Given the description of an element on the screen output the (x, y) to click on. 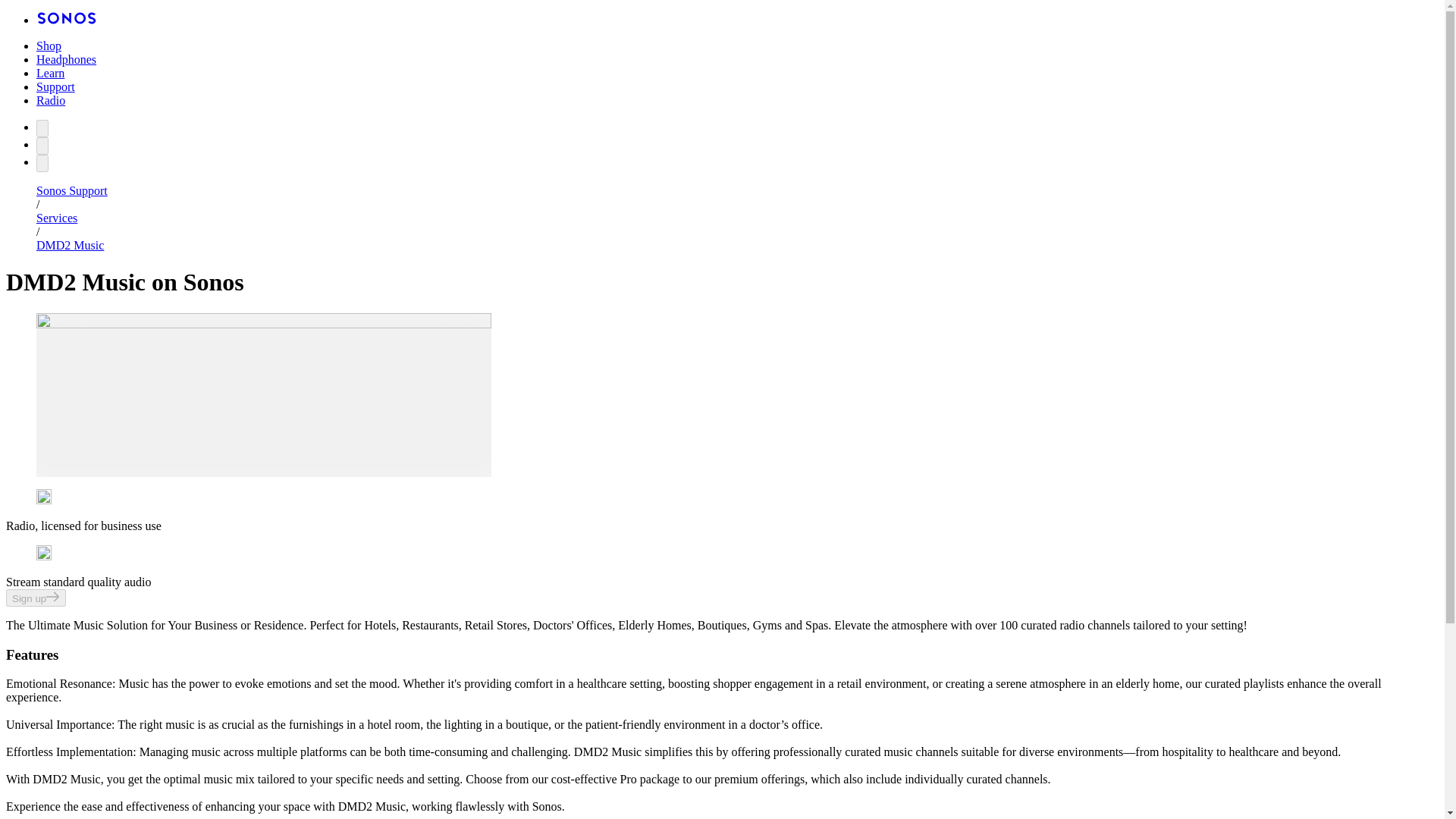
Headphones (66, 59)
DMD2 Music (69, 245)
Radio (50, 100)
Sign up (35, 597)
Learn (50, 72)
Support (55, 86)
Sonos Support (71, 190)
Sign up (35, 597)
Services (56, 217)
Shop (48, 45)
